Given the description of an element on the screen output the (x, y) to click on. 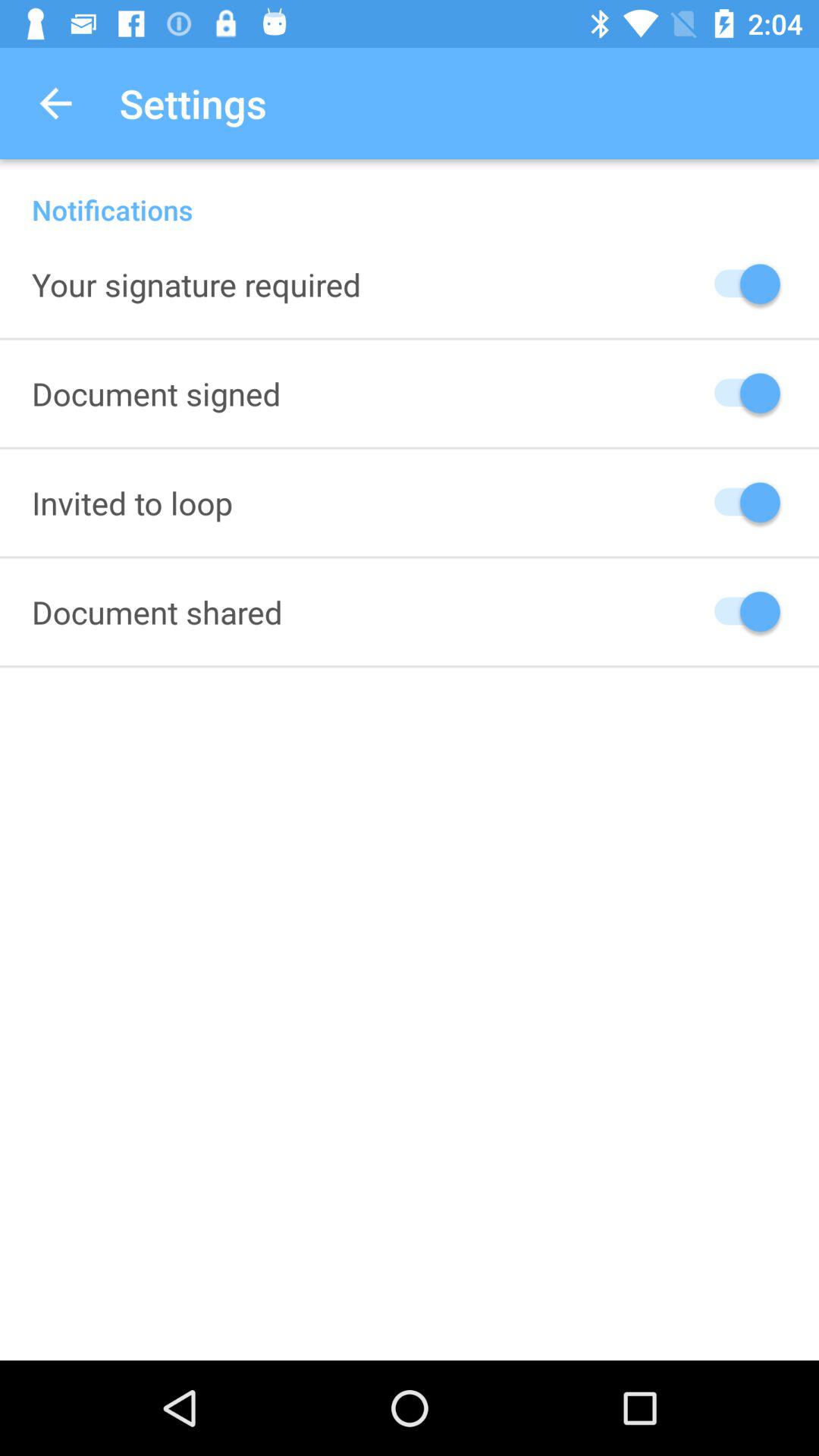
scroll until document signed icon (155, 393)
